Given the description of an element on the screen output the (x, y) to click on. 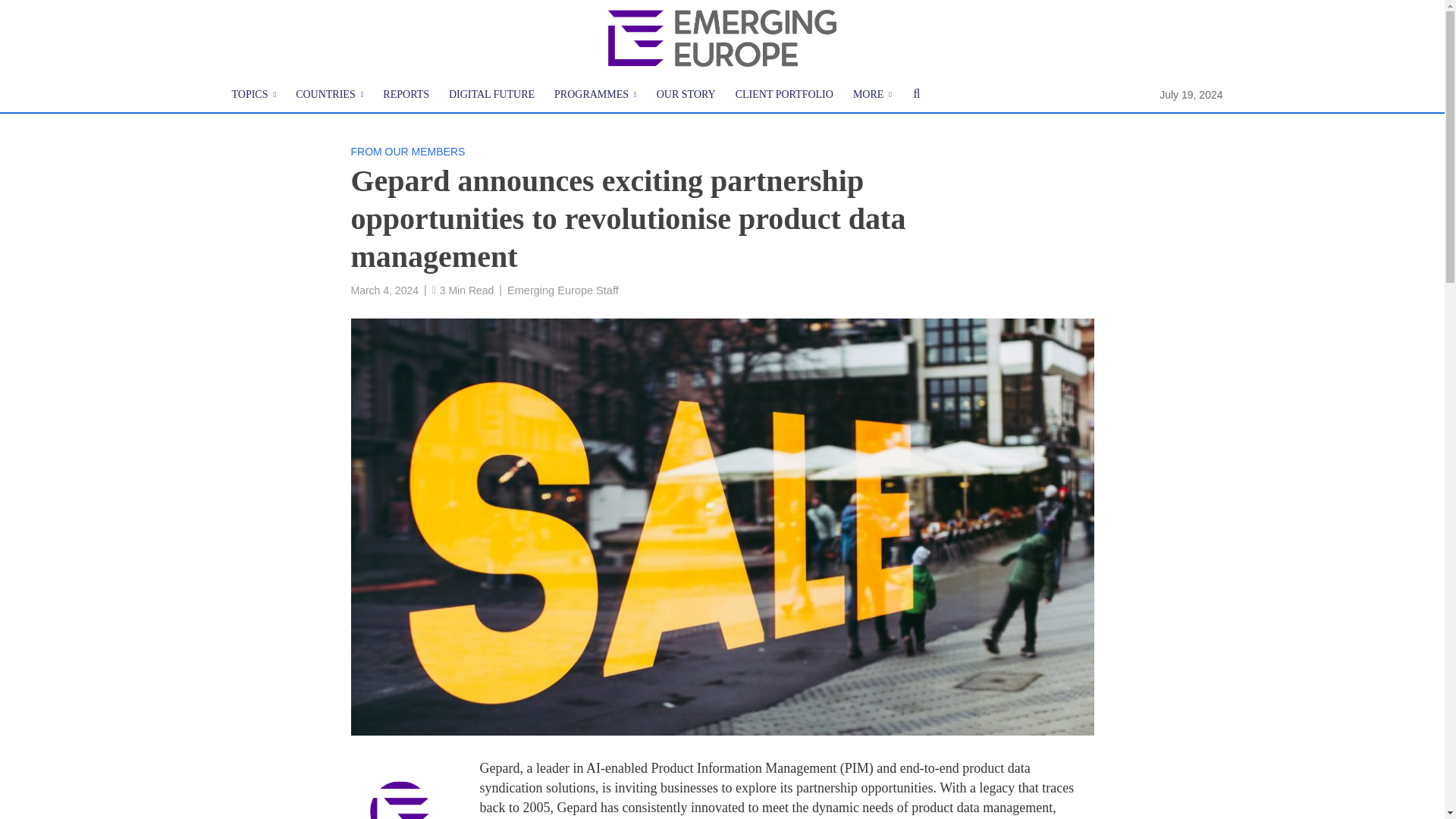
PROGRAMMES (595, 94)
COUNTRIES (328, 94)
TOPICS (253, 94)
DIGITAL FUTURE (491, 94)
REPORTS (405, 94)
